Given the description of an element on the screen output the (x, y) to click on. 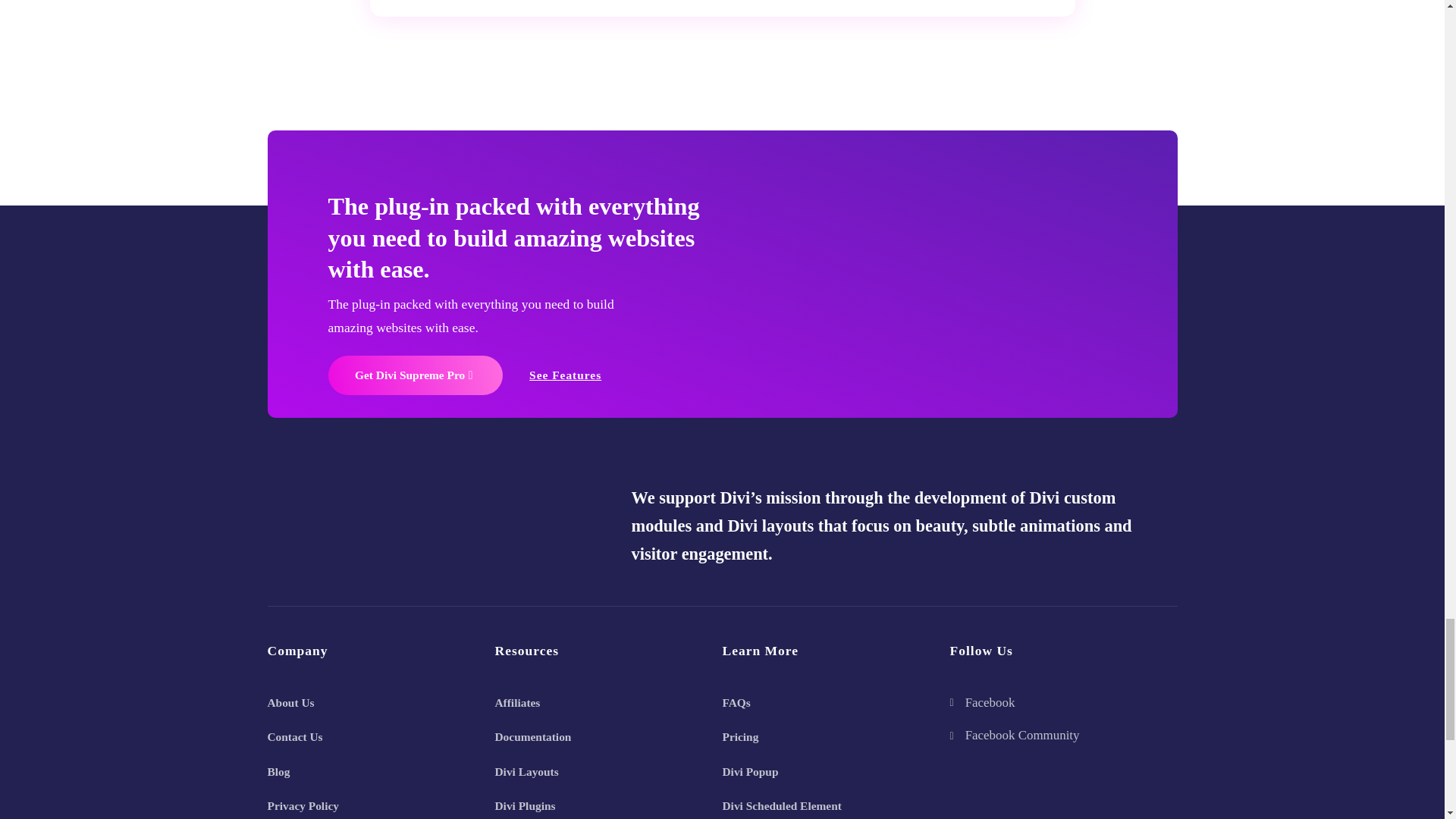
Get Divi Supreme Pro (414, 374)
Blog (277, 771)
Affiliates (517, 703)
About Us (290, 703)
Privacy Policy (301, 806)
Contact Us (293, 737)
See Features (565, 374)
